Given the description of an element on the screen output the (x, y) to click on. 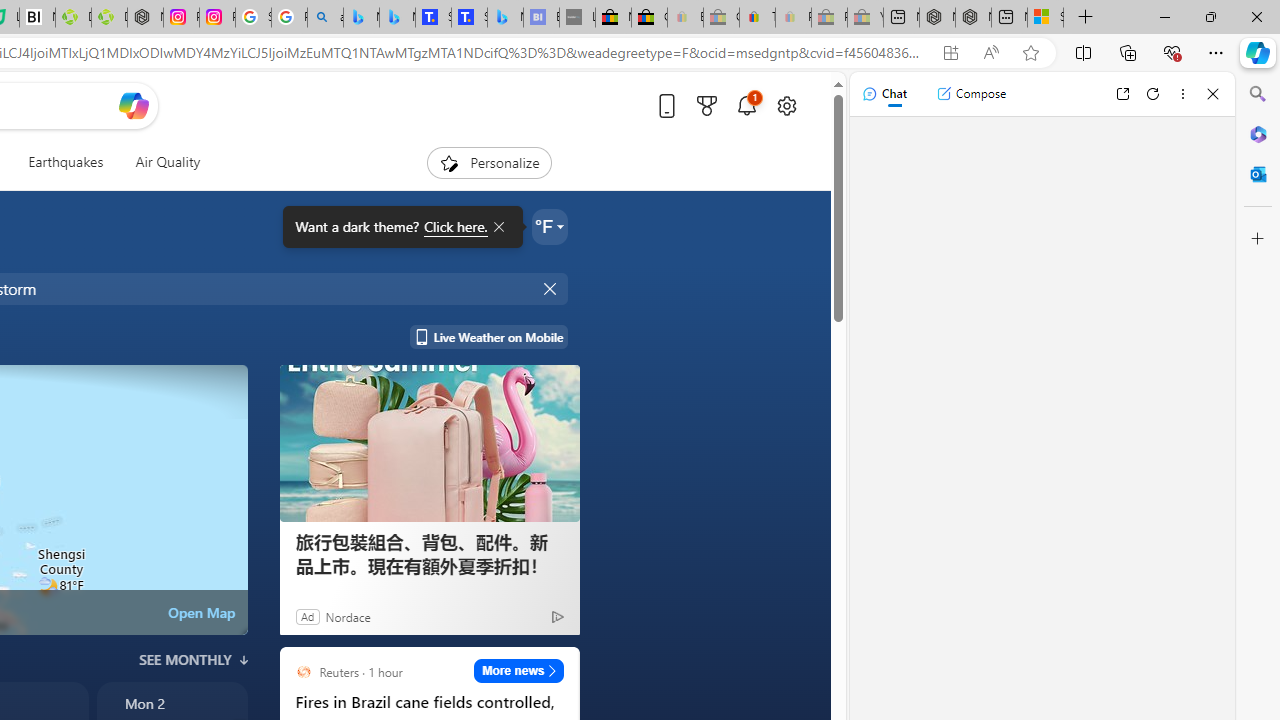
Earthquakes (65, 162)
Air Quality (167, 162)
Nordace - Summer Adventures 2024 (973, 17)
Weather settings (549, 226)
Open link in new tab (1122, 93)
Chat (884, 93)
See Monthly (193, 660)
